Given the description of an element on the screen output the (x, y) to click on. 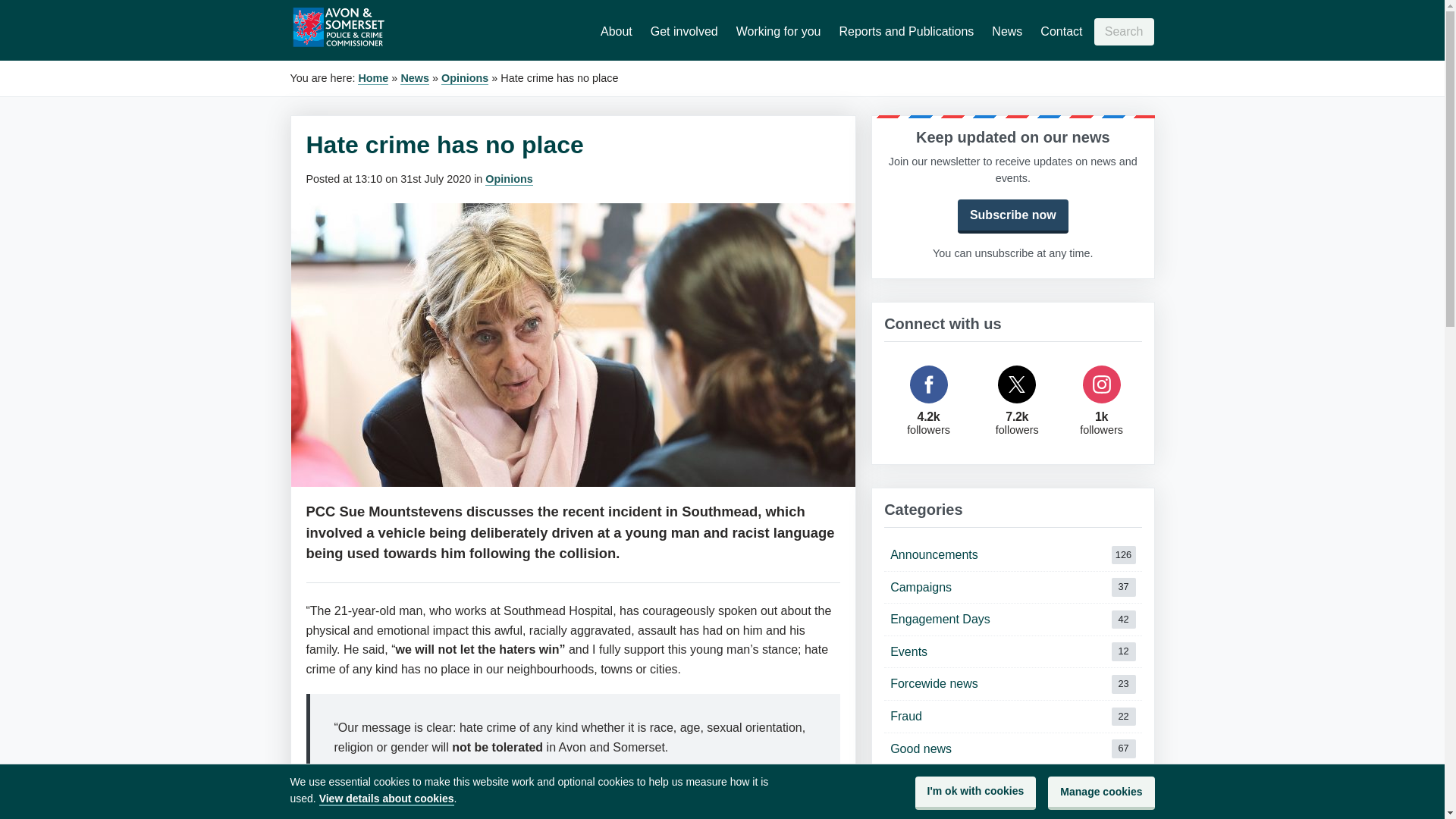
Opinions (1012, 684)
Search (1012, 587)
Go to the Opinions category archives. (508, 178)
News (1124, 31)
Reports and Publications (1012, 619)
Contact (464, 78)
instagram (1012, 652)
Get involved (1006, 31)
News (906, 31)
